Given the description of an element on the screen output the (x, y) to click on. 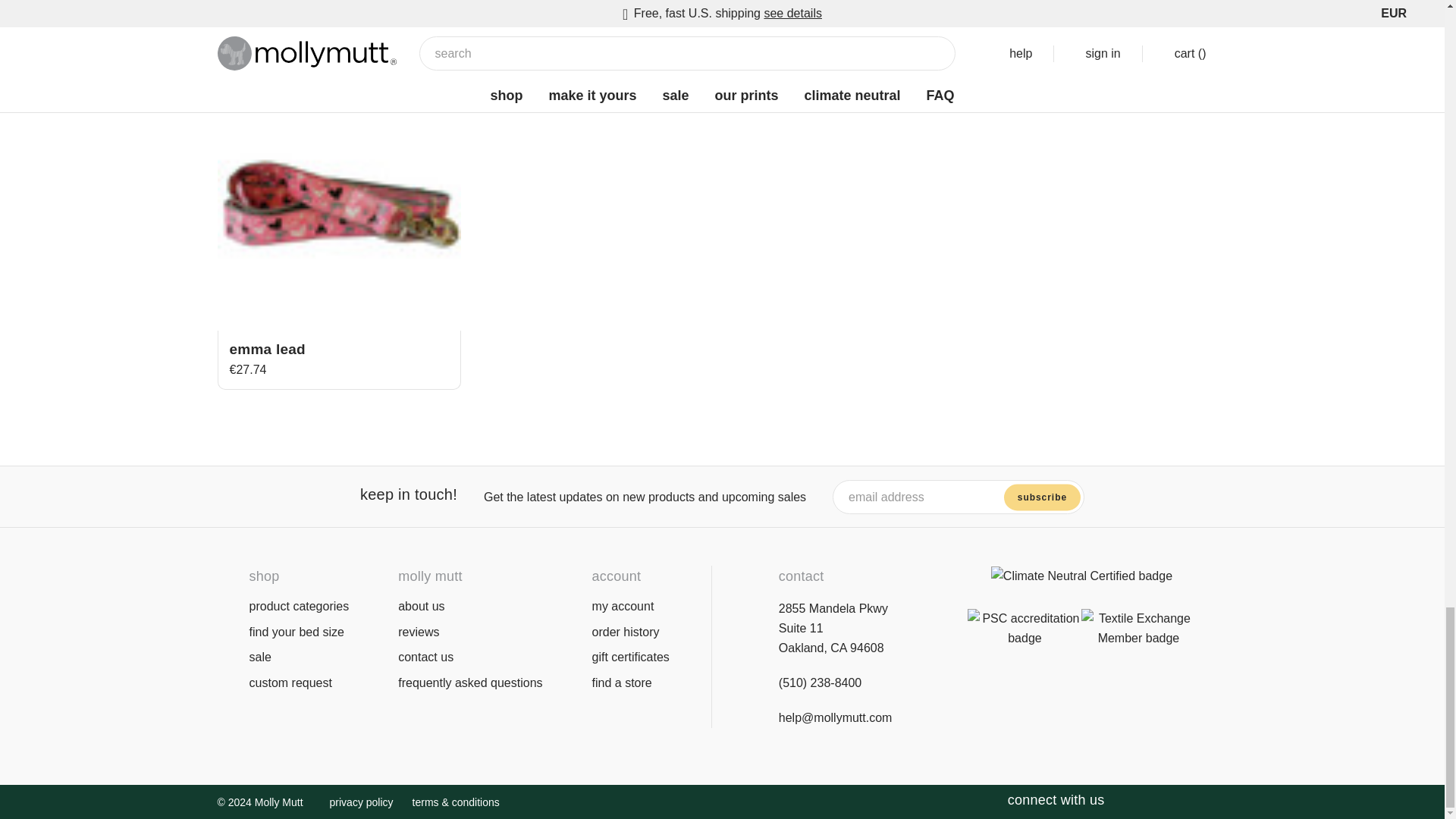
subscribe (1042, 497)
emma lead (338, 208)
sula lead (338, 4)
